Given the description of an element on the screen output the (x, y) to click on. 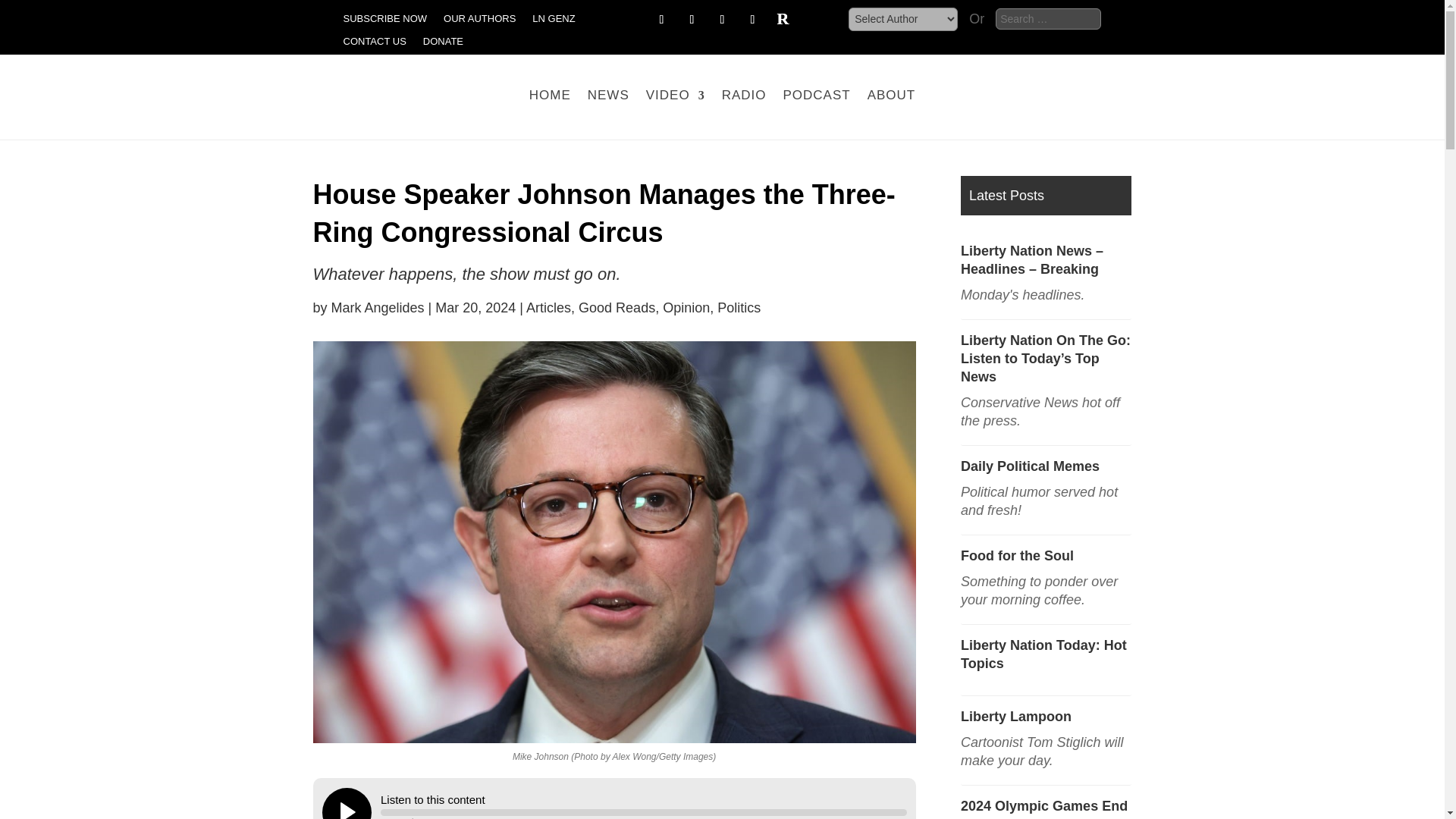
PODCAST (816, 95)
Follow on ResearchGate (782, 19)
VIDEO (675, 95)
Follow on RSS (751, 19)
OUR AUTHORS (479, 21)
Follow on X (660, 19)
LN GENZ (553, 21)
Follow on Youtube (721, 19)
CONTACT US (374, 44)
Search for: (1047, 18)
